Given the description of an element on the screen output the (x, y) to click on. 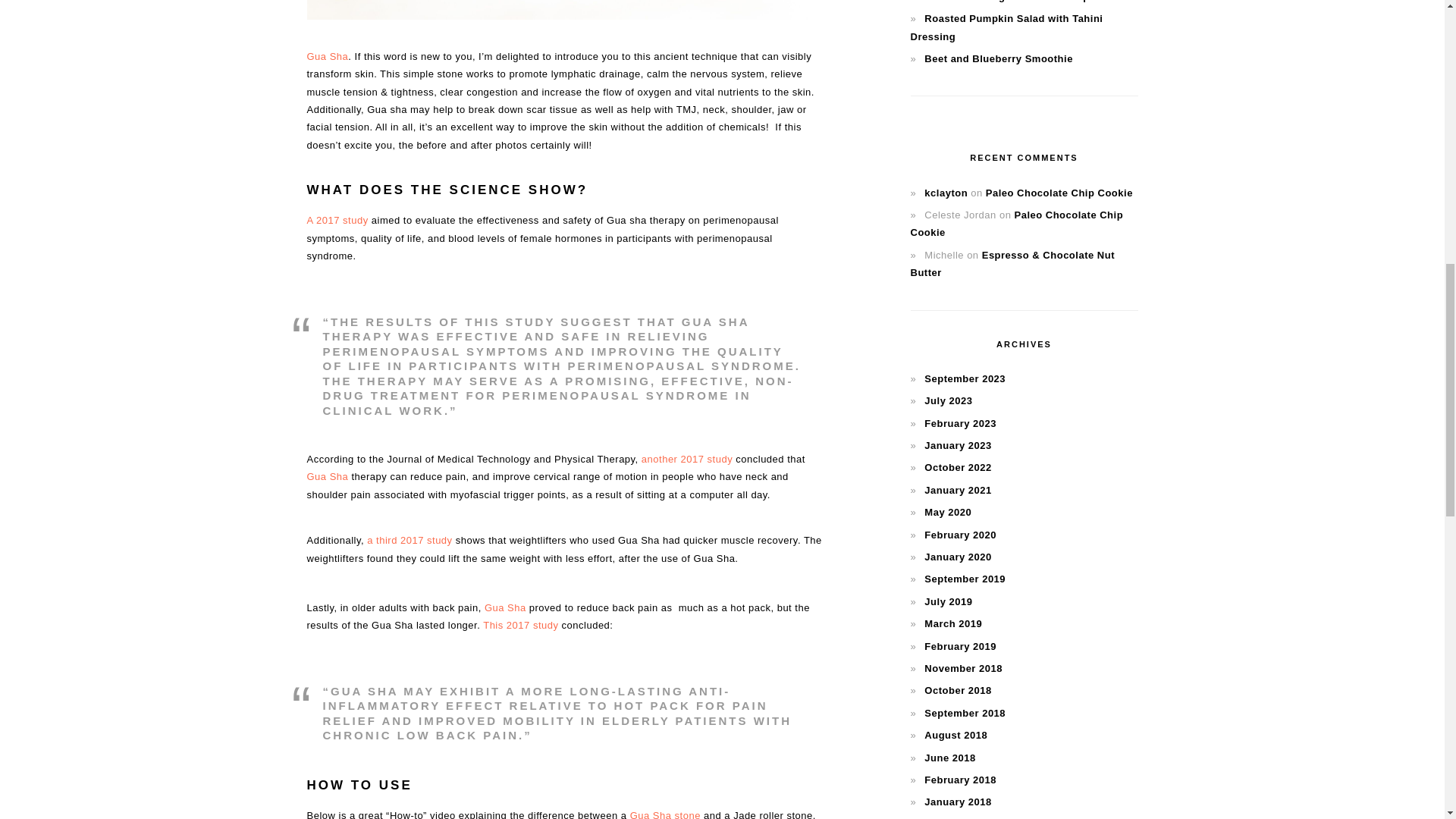
another 2017 study (687, 459)
October 2022 (957, 467)
Paleo Chocolate Chip Cookie (1058, 193)
A 2017 study (336, 220)
September 2023 (965, 378)
Gua Sha (504, 607)
Roasted Pumpkin Salad with Tahini Dressing (1006, 27)
Gua Sha (326, 56)
Winter Warming Greens in a Cup (1006, 1)
a third 2017 study (408, 540)
